Given the description of an element on the screen output the (x, y) to click on. 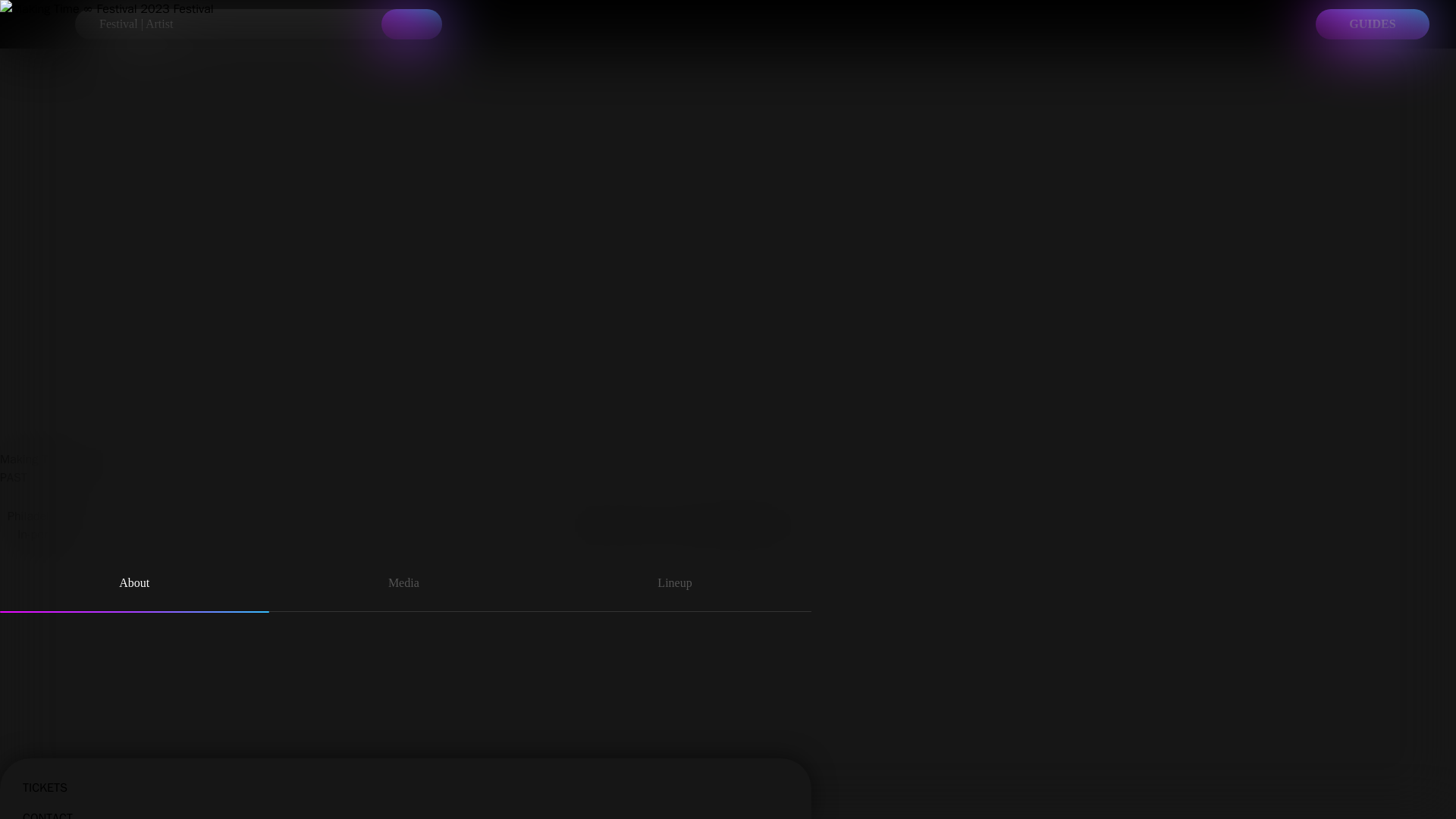
Media (51, 682)
Lineup (52, 696)
TICKETS (434, 773)
About (426, 650)
